Given the description of an element on the screen output the (x, y) to click on. 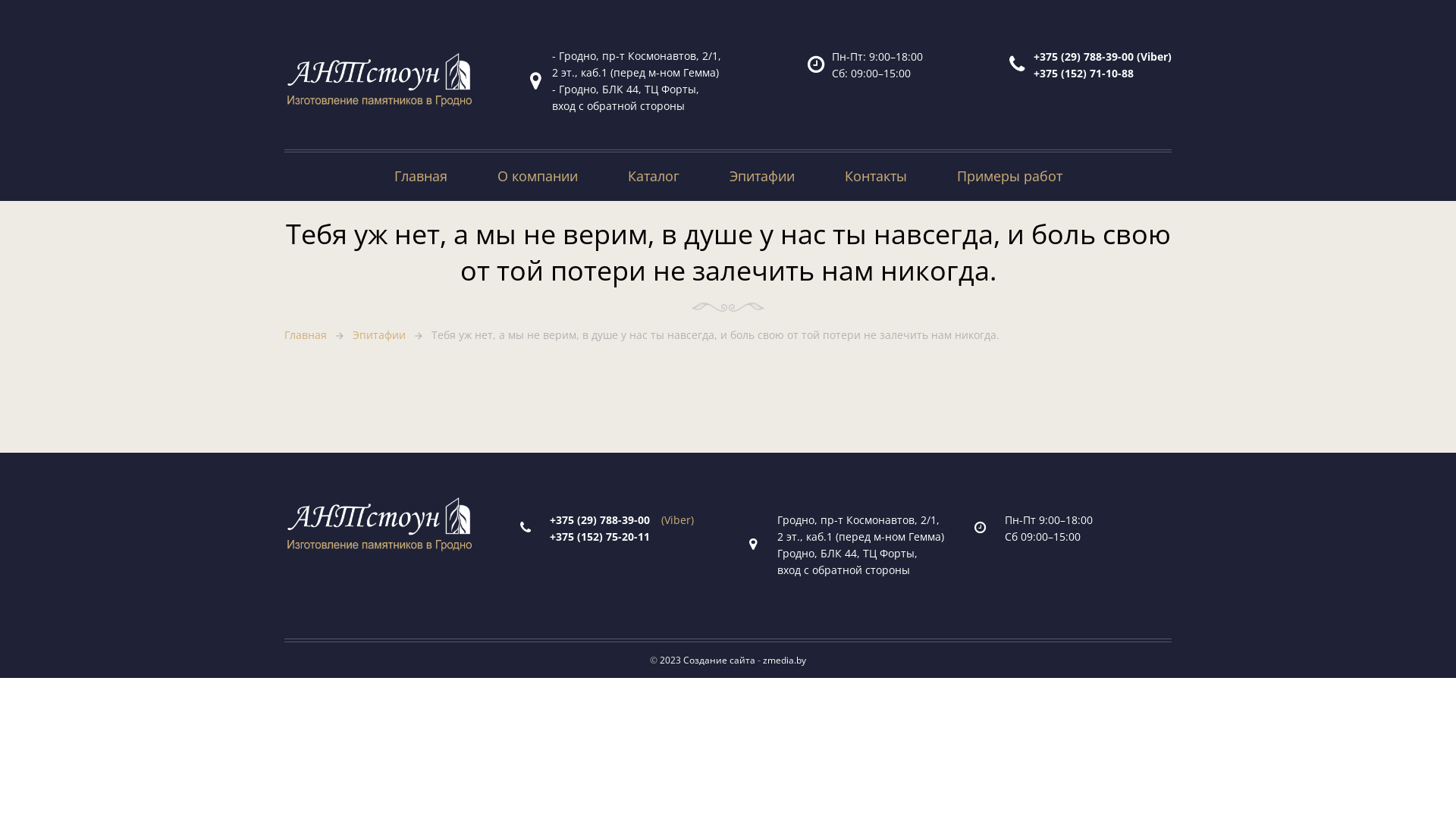
+375 (29) 788-39-00 (Viber) Element type: text (1102, 55)
+375 (29) 788-39-00(Viber) Element type: text (621, 519)
+375 (152) 75-20-11 Element type: text (605, 536)
zmedia.by Element type: text (784, 659)
+375 (152) 71-10-88 Element type: text (1083, 72)
